Given the description of an element on the screen output the (x, y) to click on. 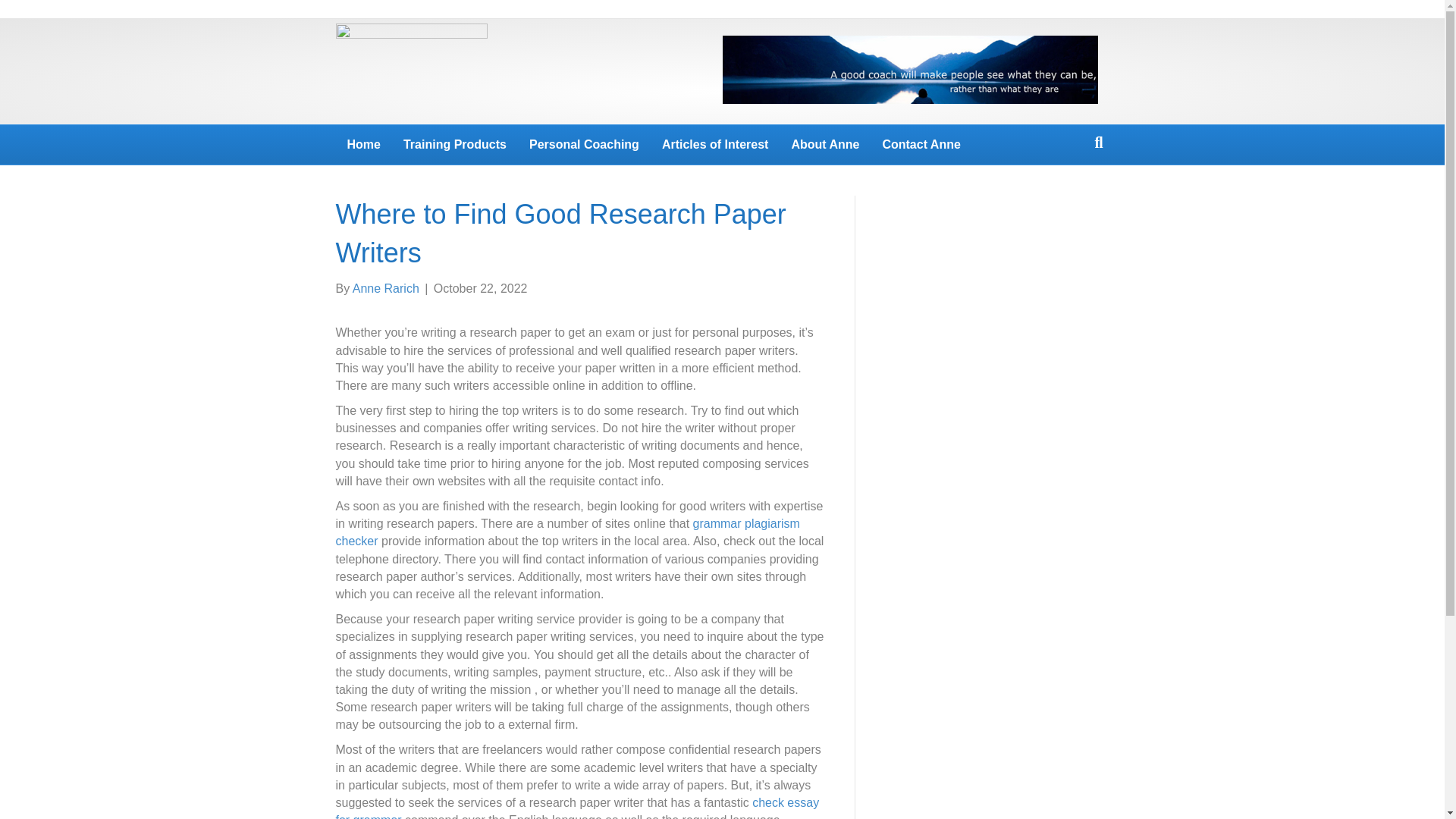
Training Products (454, 144)
Personal Coaching (584, 144)
grammar plagiarism checker (566, 531)
Anne Rarich (385, 287)
check essay for grammar (576, 807)
Contact Anne (920, 144)
Home (362, 144)
About Anne (824, 144)
Articles of Interest (714, 144)
